Given the description of an element on the screen output the (x, y) to click on. 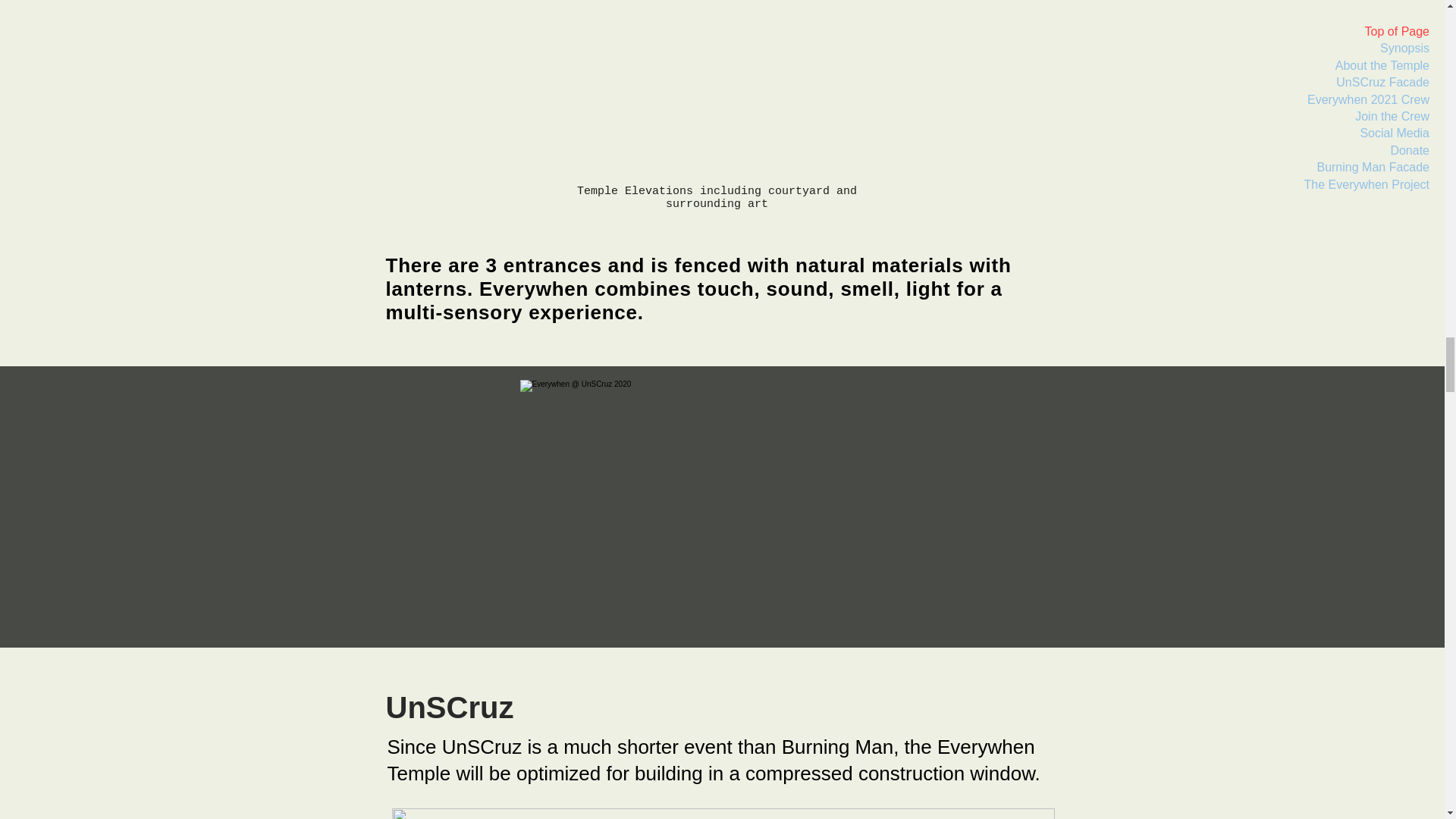
Everywhen Elevations January 2020 - Back (715, 88)
